Given the description of an element on the screen output the (x, y) to click on. 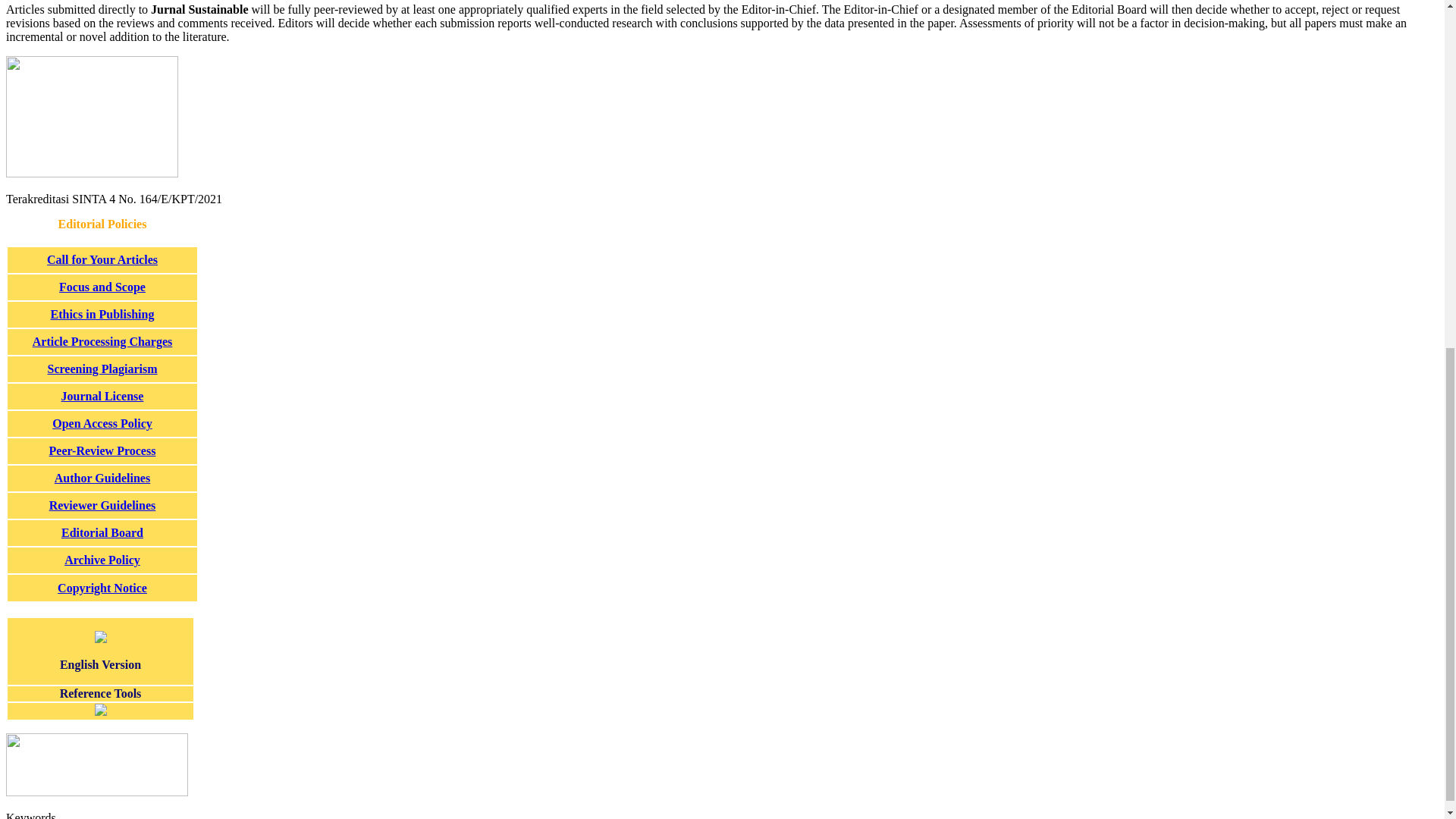
Peer-Review Process (102, 450)
Journal License (102, 395)
Reviewer Guidelines (102, 504)
Archive Policy (101, 559)
Ethics in Publishing (102, 314)
Focus and Scope (102, 286)
Copyright Notice (102, 587)
Article Processing Charges (102, 341)
Call for Your Articles (101, 259)
Editorial Board (101, 532)
Author Guidelines (102, 477)
English (100, 638)
SINTA (91, 173)
Open Access Policy (102, 422)
Screening Plagiarism (101, 368)
